Given the description of an element on the screen output the (x, y) to click on. 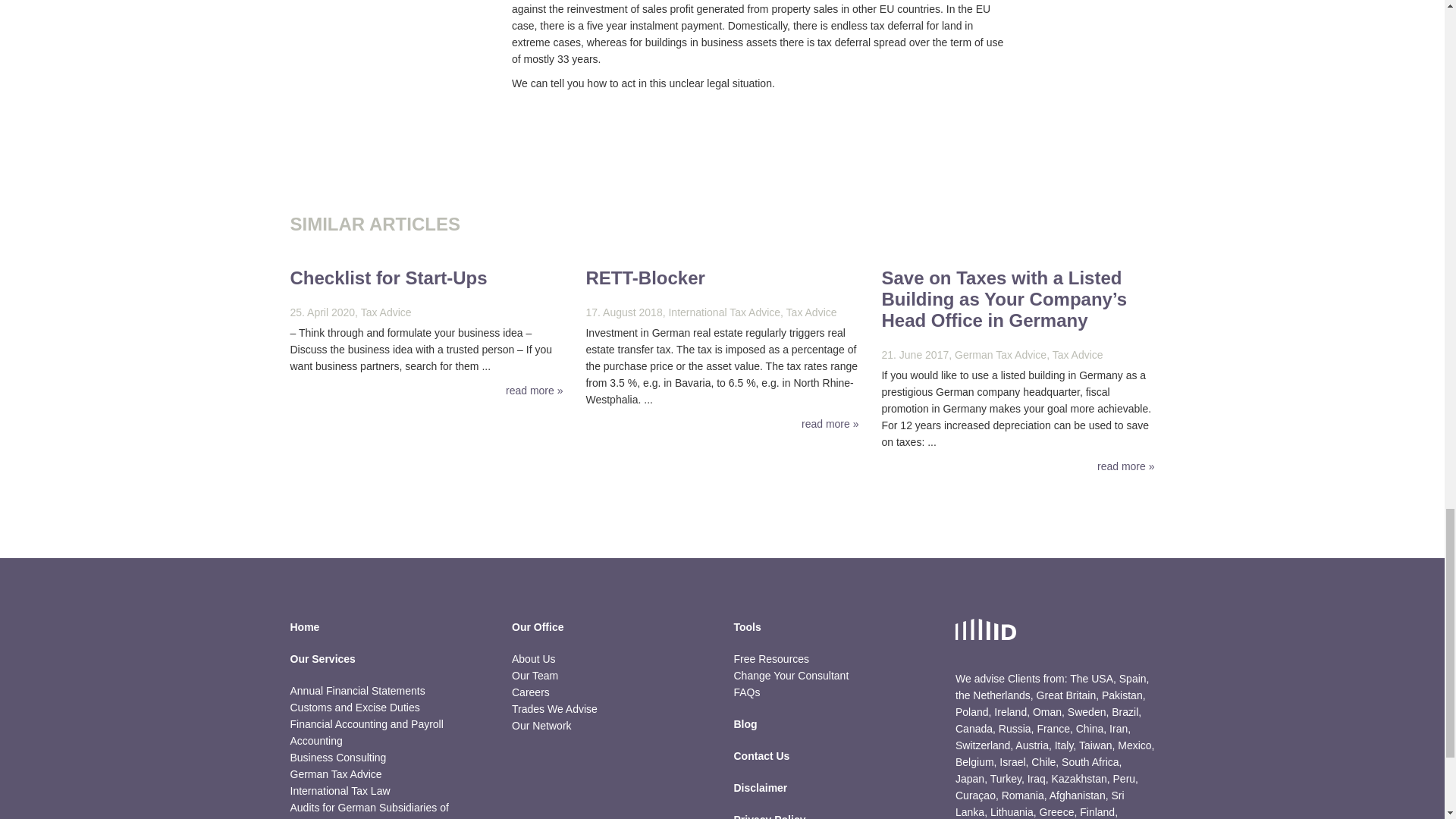
Our Office (611, 634)
Customs and Excise Duties (354, 707)
Audits for German Subsidiaries of International Companies (368, 810)
Annual Financial Statements (357, 690)
Home (389, 634)
Our Services (389, 666)
International Tax Law (339, 790)
Business Consulting (337, 757)
German Tax Advice (335, 774)
Financial Accounting and Payroll Accounting (365, 732)
